Given the description of an element on the screen output the (x, y) to click on. 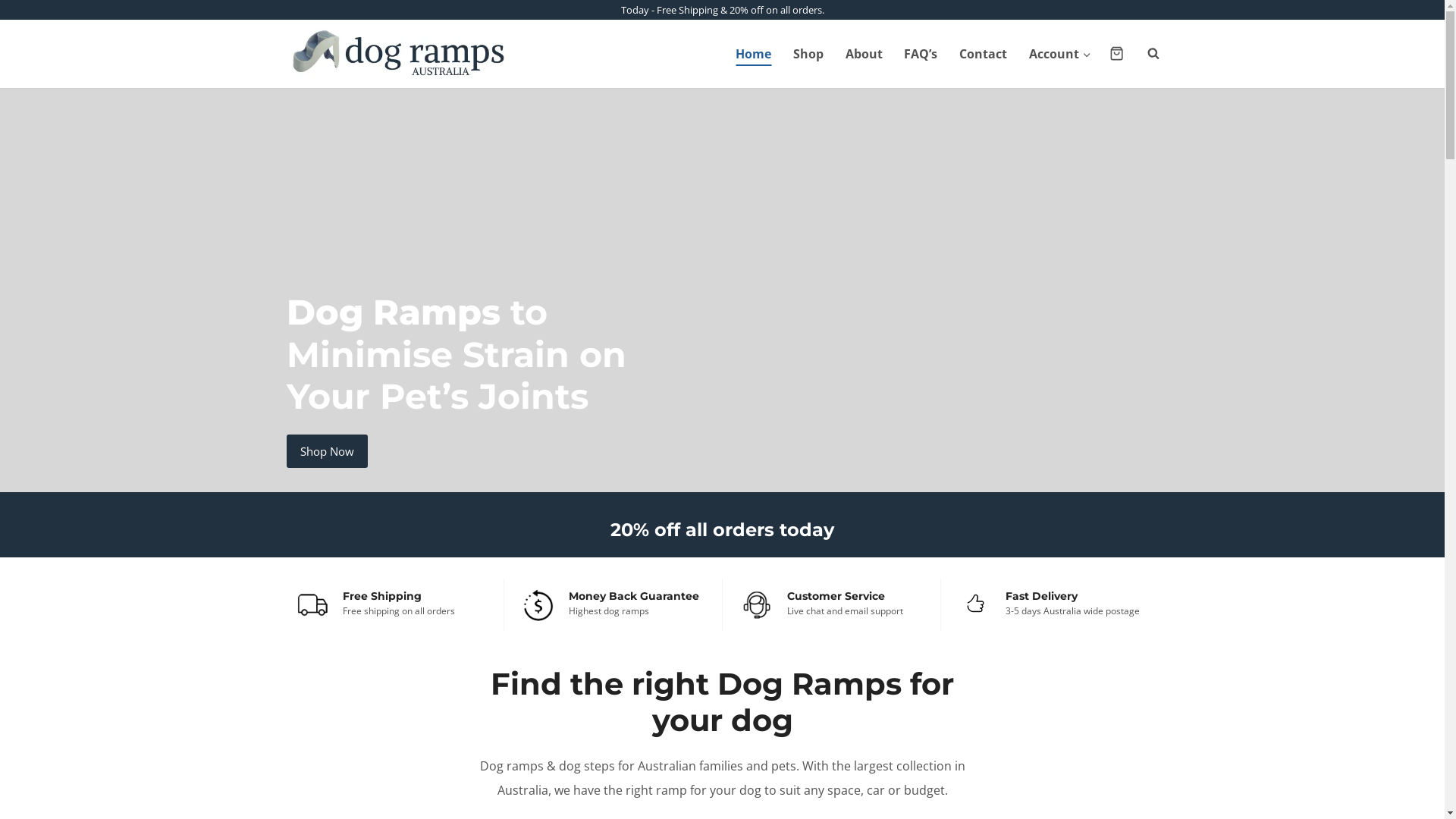
Shop Element type: text (807, 53)
Home Element type: text (753, 53)
Shop Now Element type: text (326, 450)
Contact Element type: text (983, 53)
Account Element type: text (1060, 53)
About Element type: text (863, 53)
